Given the description of an element on the screen output the (x, y) to click on. 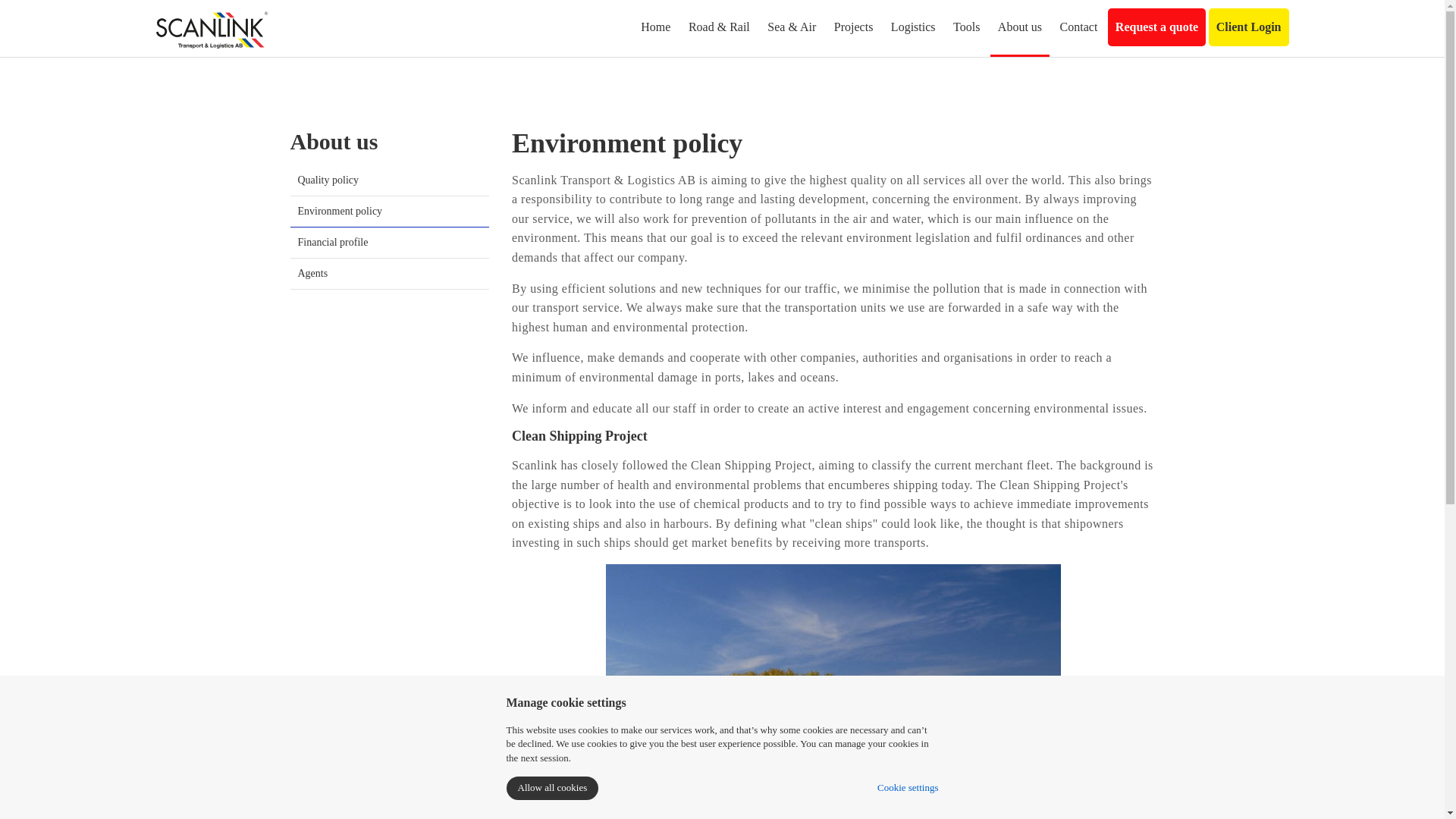
Home (655, 27)
Quality policy (390, 179)
Contact (1078, 27)
Allow all cookies (552, 788)
Client Login (1248, 26)
Environment policy (390, 210)
Financial profile (390, 241)
Logistics (913, 27)
Tools (965, 27)
Agents (390, 273)
Scanlink (211, 29)
Projects (853, 27)
Request a quote (1156, 26)
About us (1019, 27)
